Given the description of an element on the screen output the (x, y) to click on. 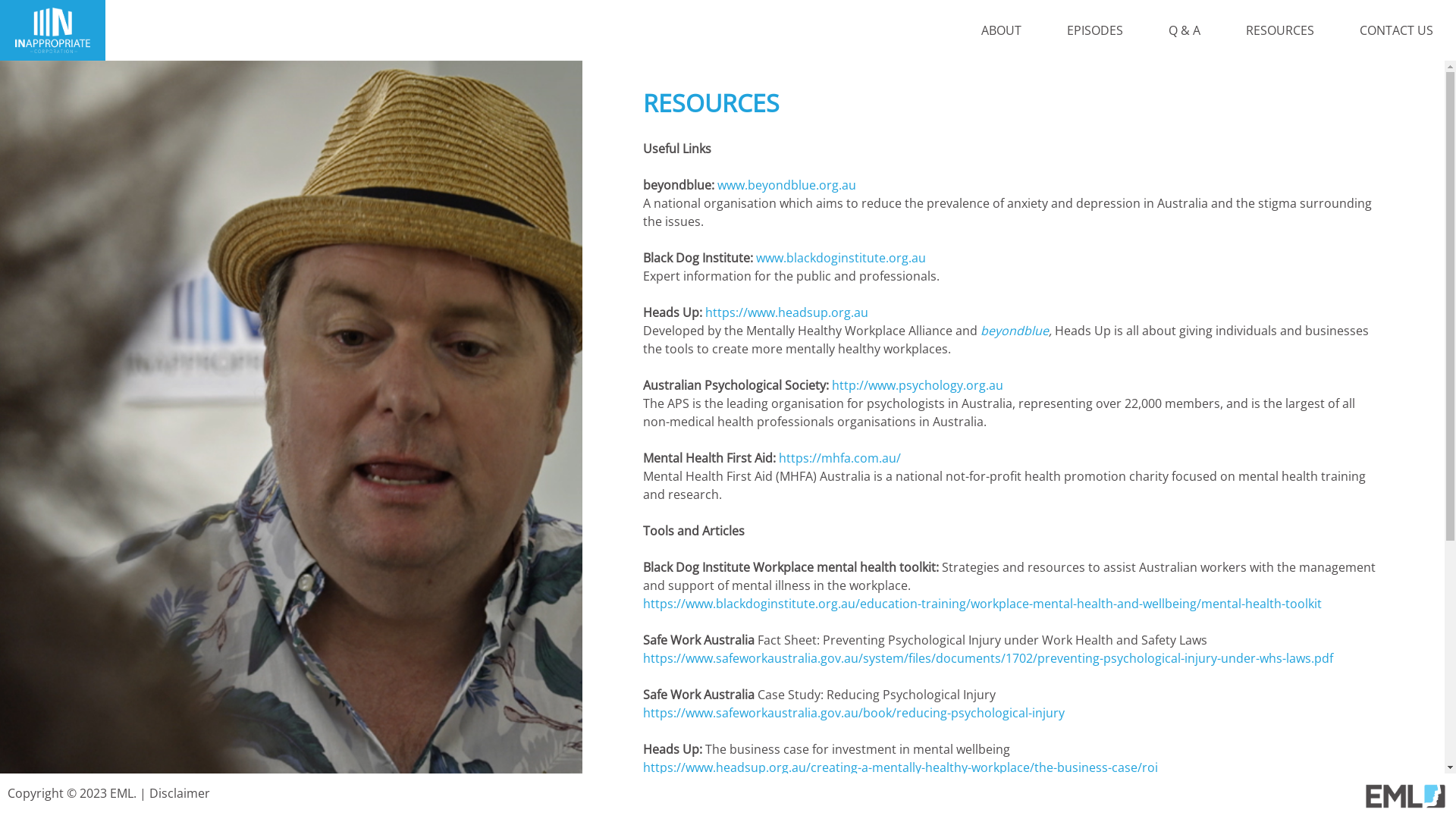
RESOURCES Element type: text (1279, 30)
www.beyondblue.org.au Element type: text (786, 184)
https://www.headsup.org.au Element type: text (786, 312)
http://www.psychology.org.au Element type: text (917, 384)
Inappropriate Corporation Element type: hover (52, 48)
beyondblue Element type: text (1014, 330)
www.blackdoginstitute.org.au Element type: text (840, 257)
Q & A Element type: text (1184, 30)
ABOUT Element type: text (1001, 30)
https://mhfa.com.au/ Element type: text (839, 457)
EPISODES Element type: text (1094, 30)
Disclaimer Element type: text (179, 792)
